Given the description of an element on the screen output the (x, y) to click on. 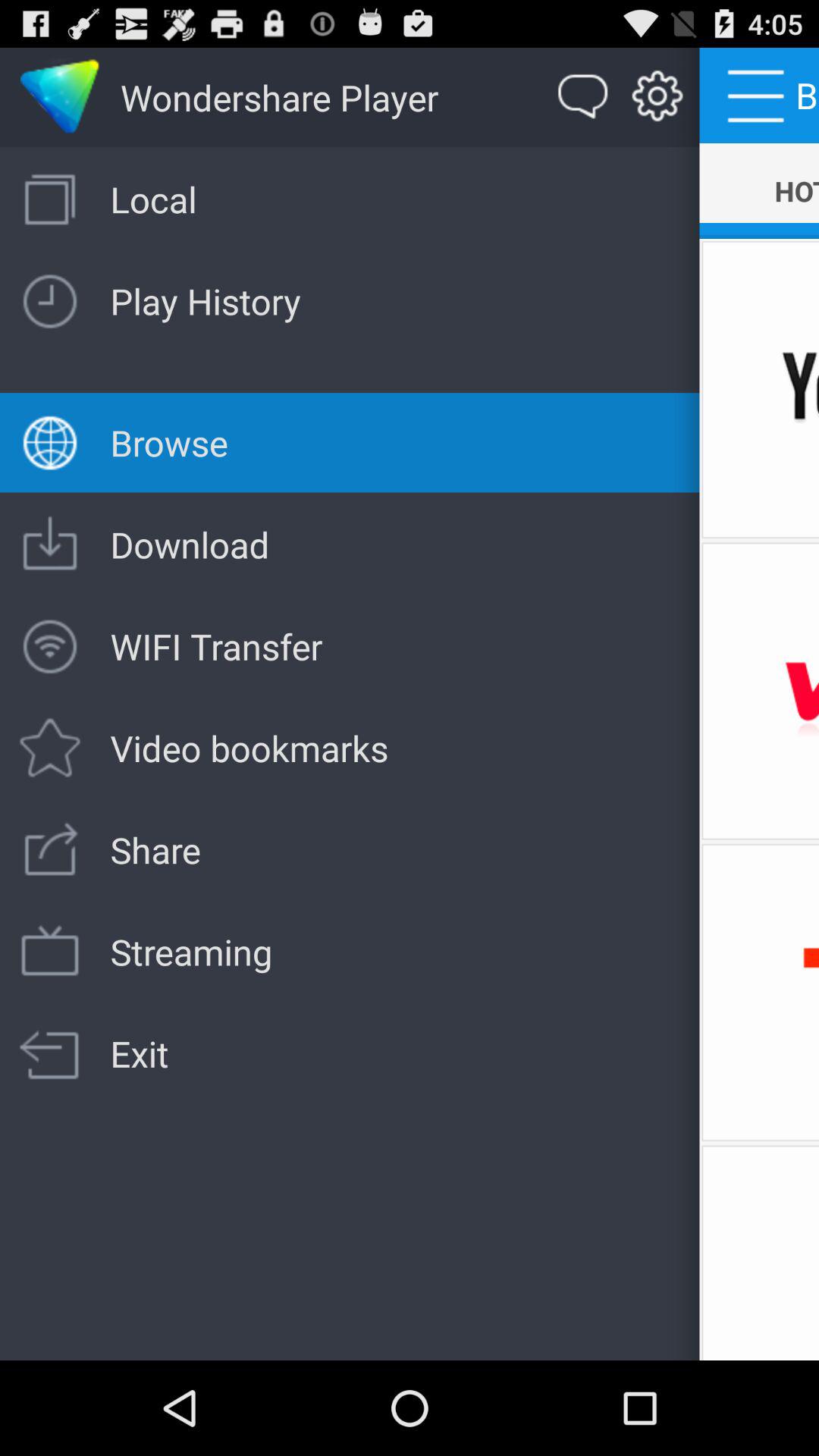
click the icon to the right of the share icon (759, 992)
